Given the description of an element on the screen output the (x, y) to click on. 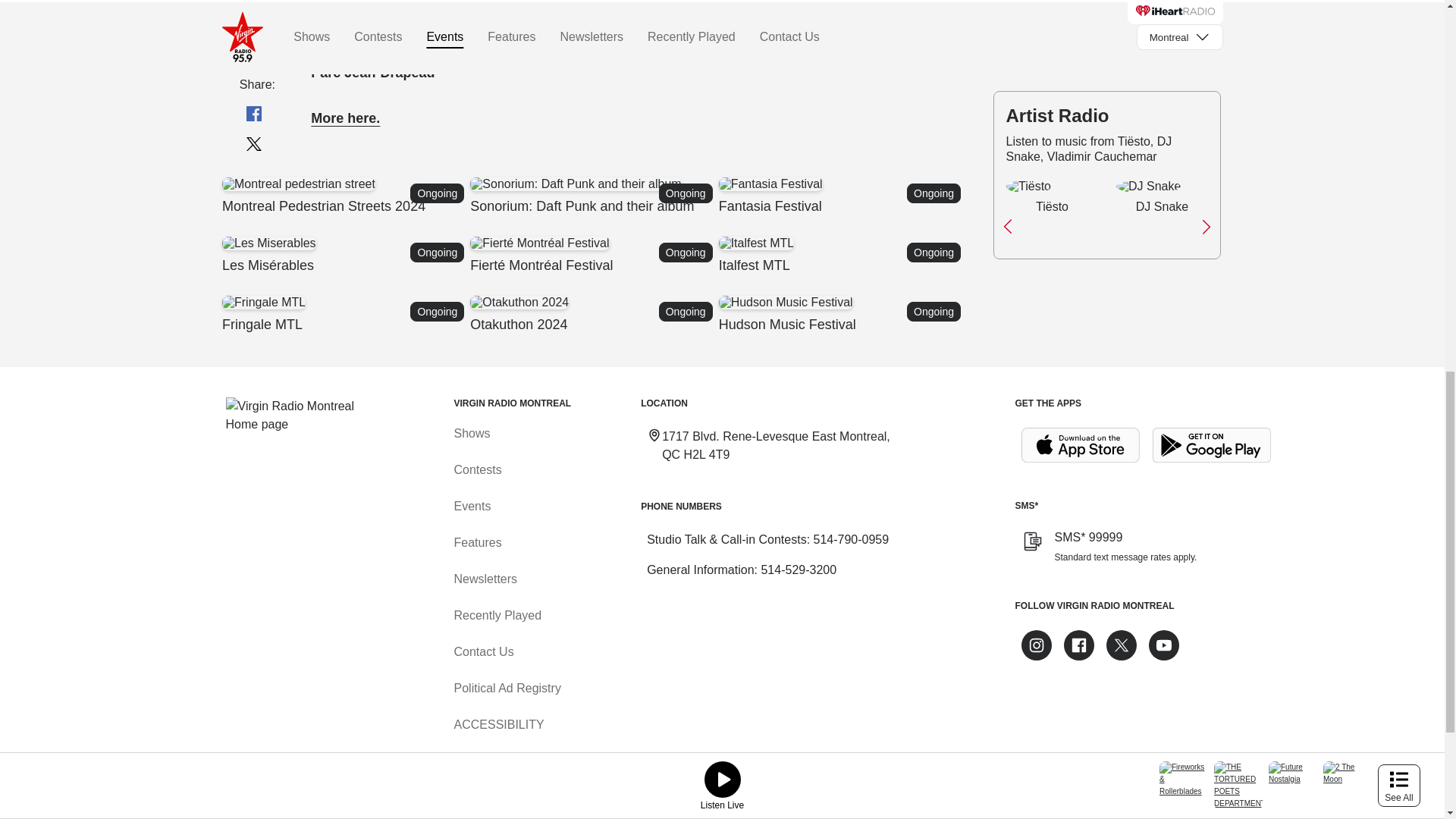
Fringale MTL (344, 314)
Montreal pedestrian street (344, 314)
Hudson Music Festival (297, 183)
More here. (841, 314)
Otakuthon 2024 (345, 118)
Fantasia Festival (519, 302)
Les Miserables (841, 196)
